Given the description of an element on the screen output the (x, y) to click on. 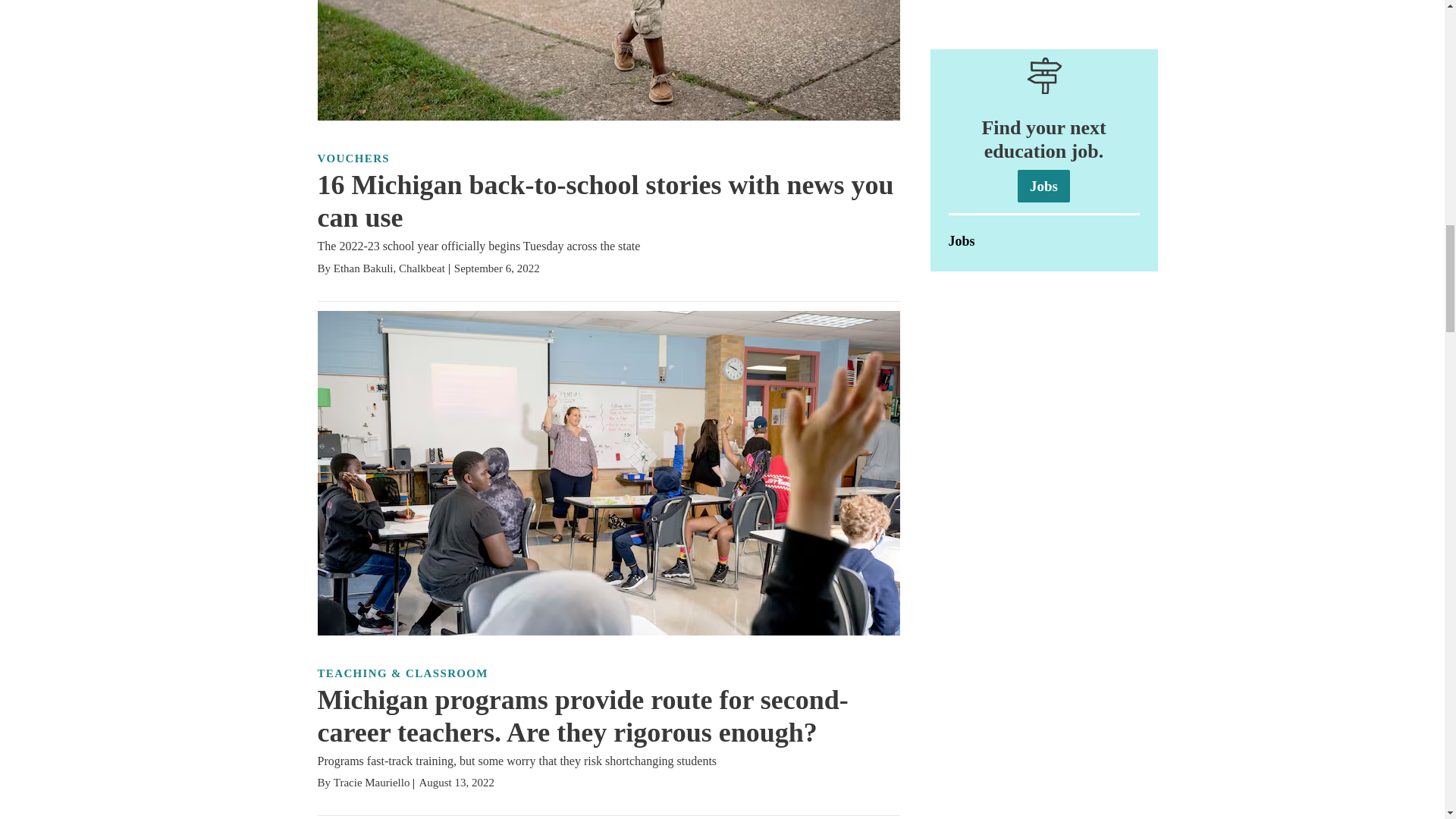
16 Michigan back-to-school stories with news you can use (605, 200)
Vouchers (353, 158)
